Given the description of an element on the screen output the (x, y) to click on. 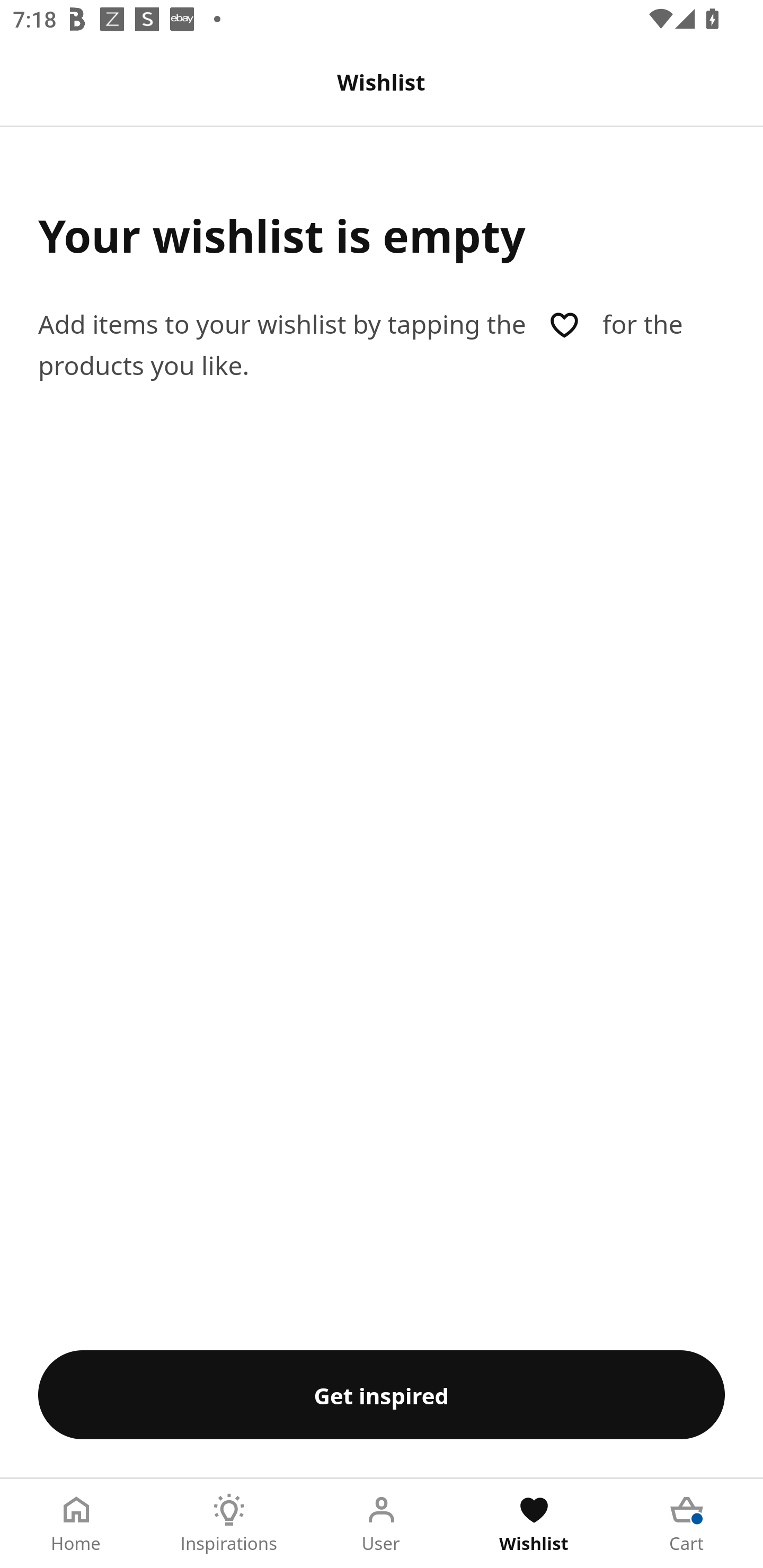
Get inspired (381, 1394)
Home
Tab 1 of 5 (76, 1522)
Inspirations
Tab 2 of 5 (228, 1522)
User
Tab 3 of 5 (381, 1522)
Wishlist
Tab 4 of 5 (533, 1522)
Cart
Tab 5 of 5 (686, 1522)
